Given the description of an element on the screen output the (x, y) to click on. 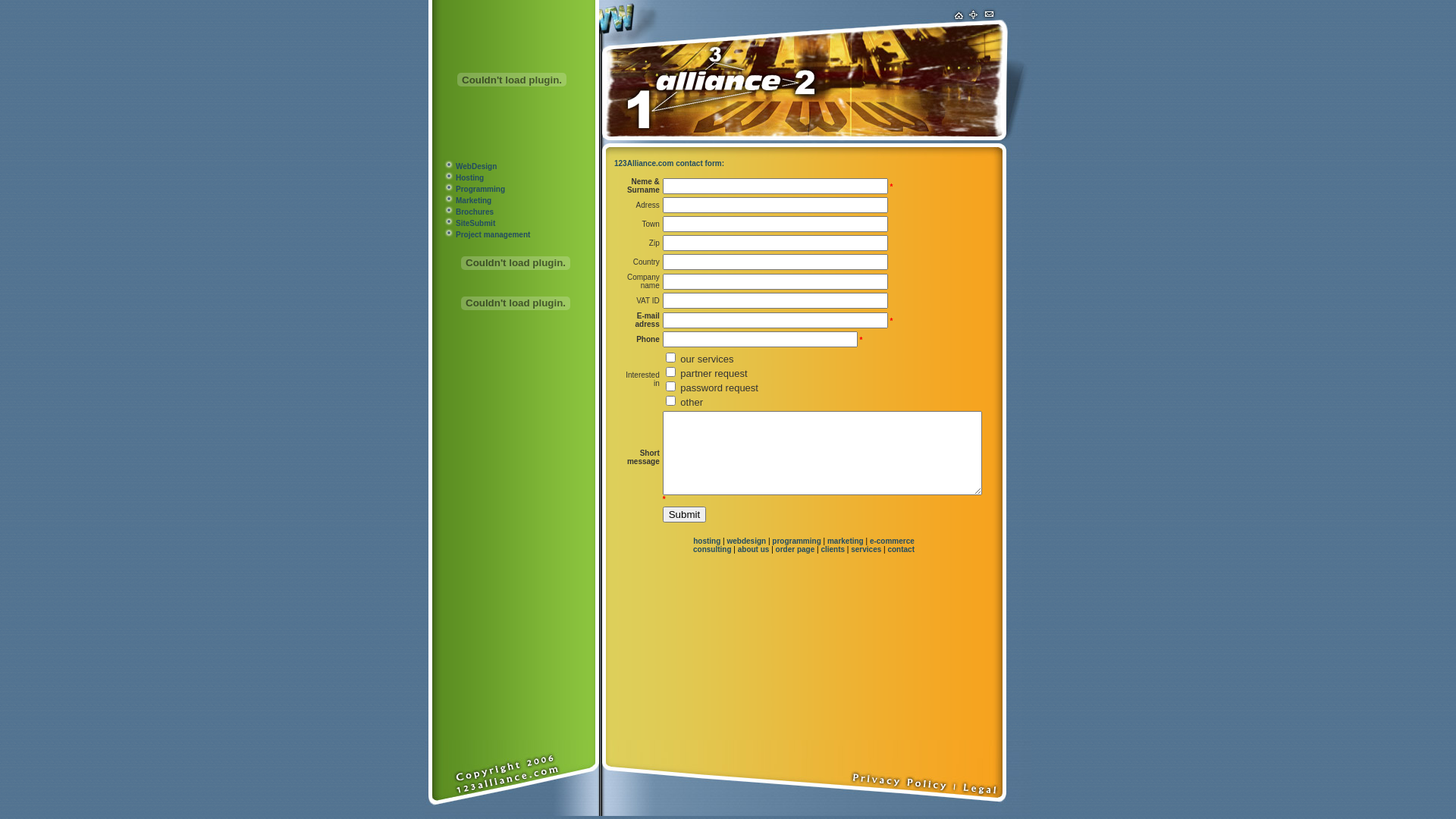
webdesign Element type: text (745, 540)
clients Element type: text (832, 549)
services Element type: text (865, 549)
order page Element type: text (795, 549)
Project management Element type: text (492, 234)
programming Element type: text (795, 540)
WebDesign Element type: text (475, 166)
hosting Element type: text (706, 540)
about us Element type: text (753, 549)
SiteSubmit Element type: text (475, 223)
consulting Element type: text (712, 549)
contact Element type: text (900, 549)
Marketing Element type: text (473, 200)
Hosting Element type: text (469, 177)
Submit Element type: text (684, 514)
Programming Element type: text (480, 189)
marketing Element type: text (845, 540)
Brochures Element type: text (474, 211)
e-commerce Element type: text (891, 540)
